Given the description of an element on the screen output the (x, y) to click on. 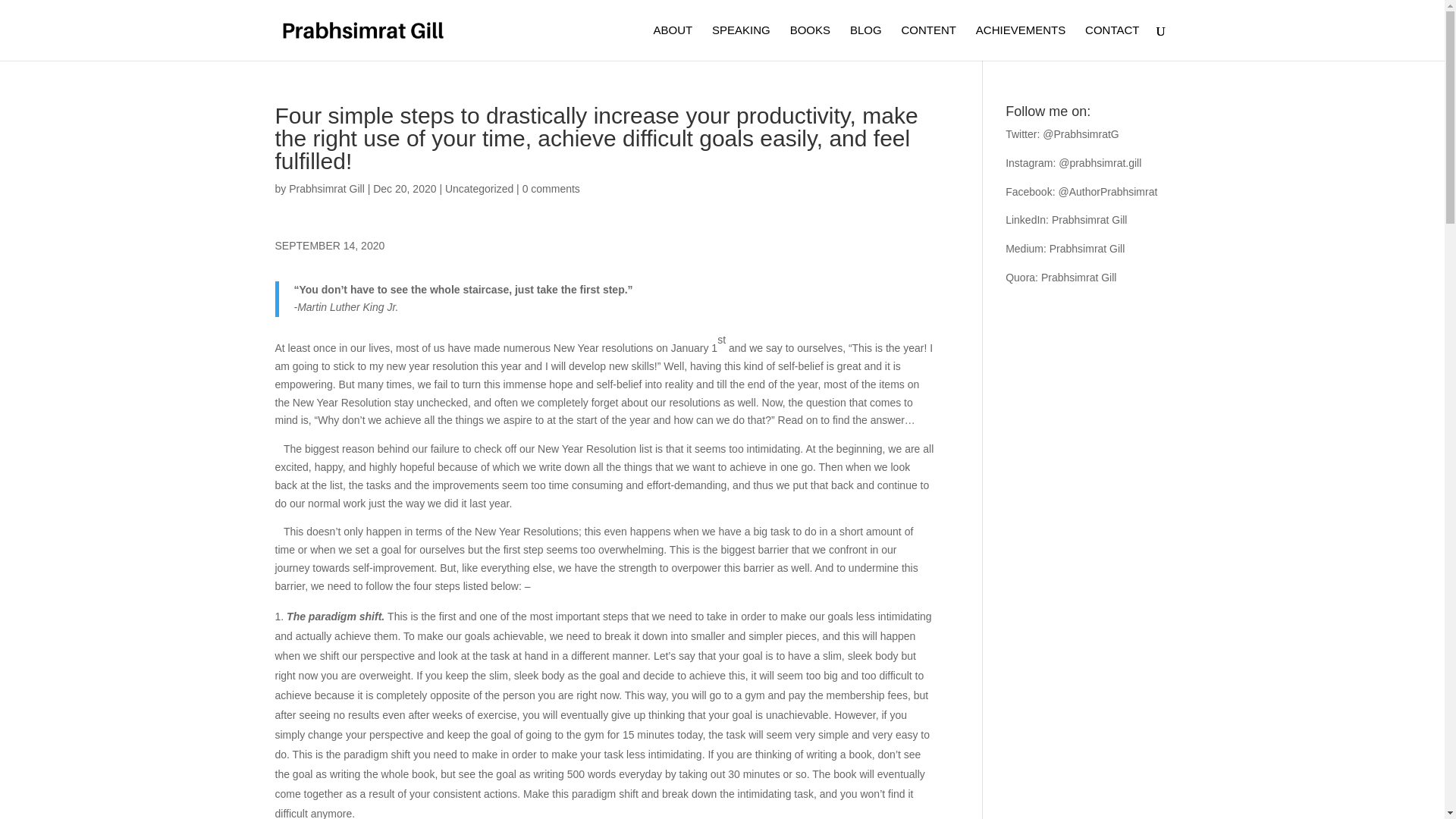
Prabhsimrat Gill (326, 188)
BOOKS (809, 42)
Prabhsimrat Gill (1088, 219)
CONTENT (928, 42)
0 comments (550, 188)
Posts by Prabhsimrat Gill (326, 188)
BLOG (866, 42)
CONTACT (1111, 42)
ABOUT (672, 42)
Uncategorized (479, 188)
